Given the description of an element on the screen output the (x, y) to click on. 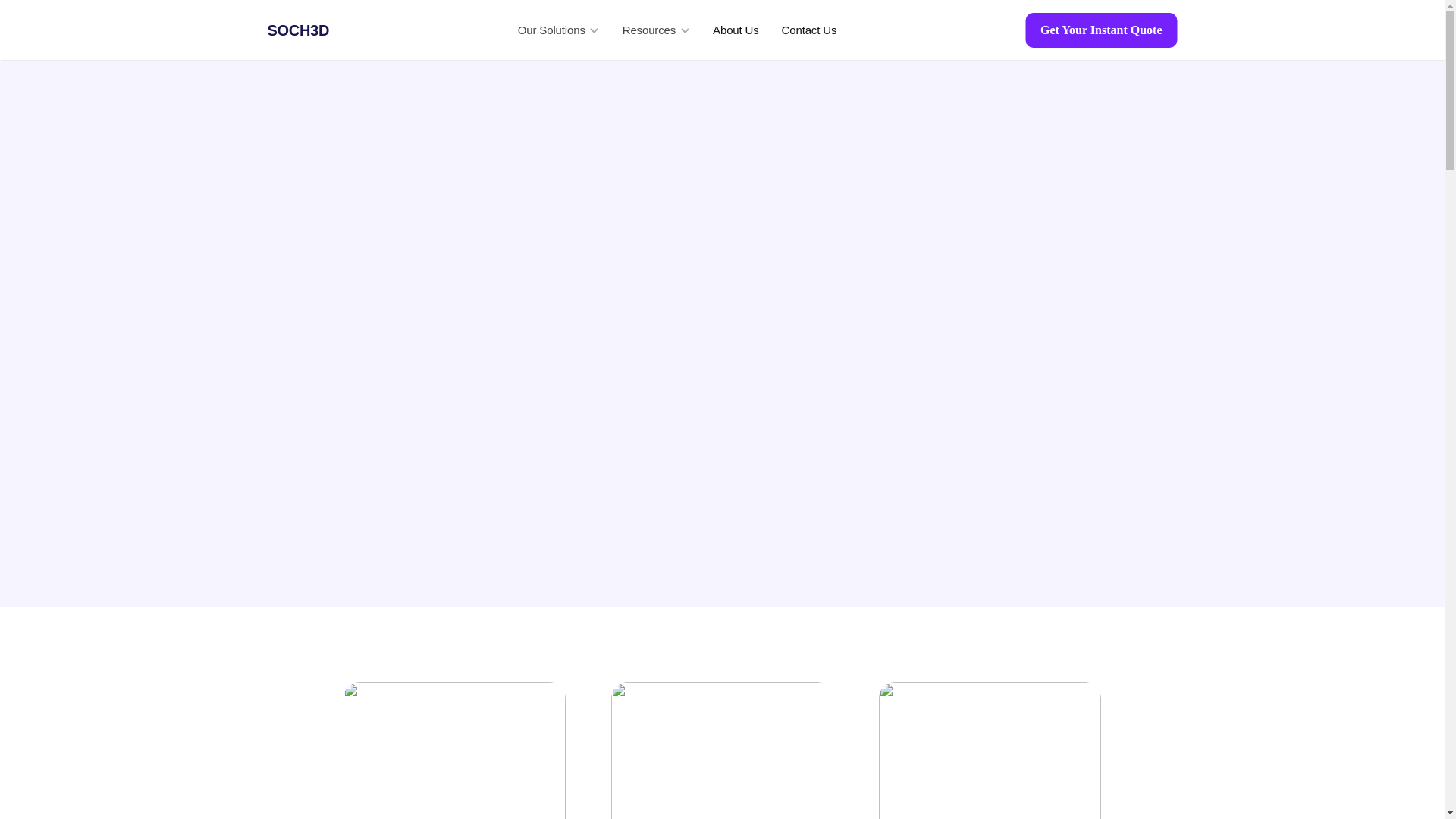
Get Your Instant Quote (1100, 30)
Contact Us (531, 439)
SOCH3D (297, 30)
Contact Us (809, 29)
About Us (735, 29)
Get Quote (409, 439)
